Given the description of an element on the screen output the (x, y) to click on. 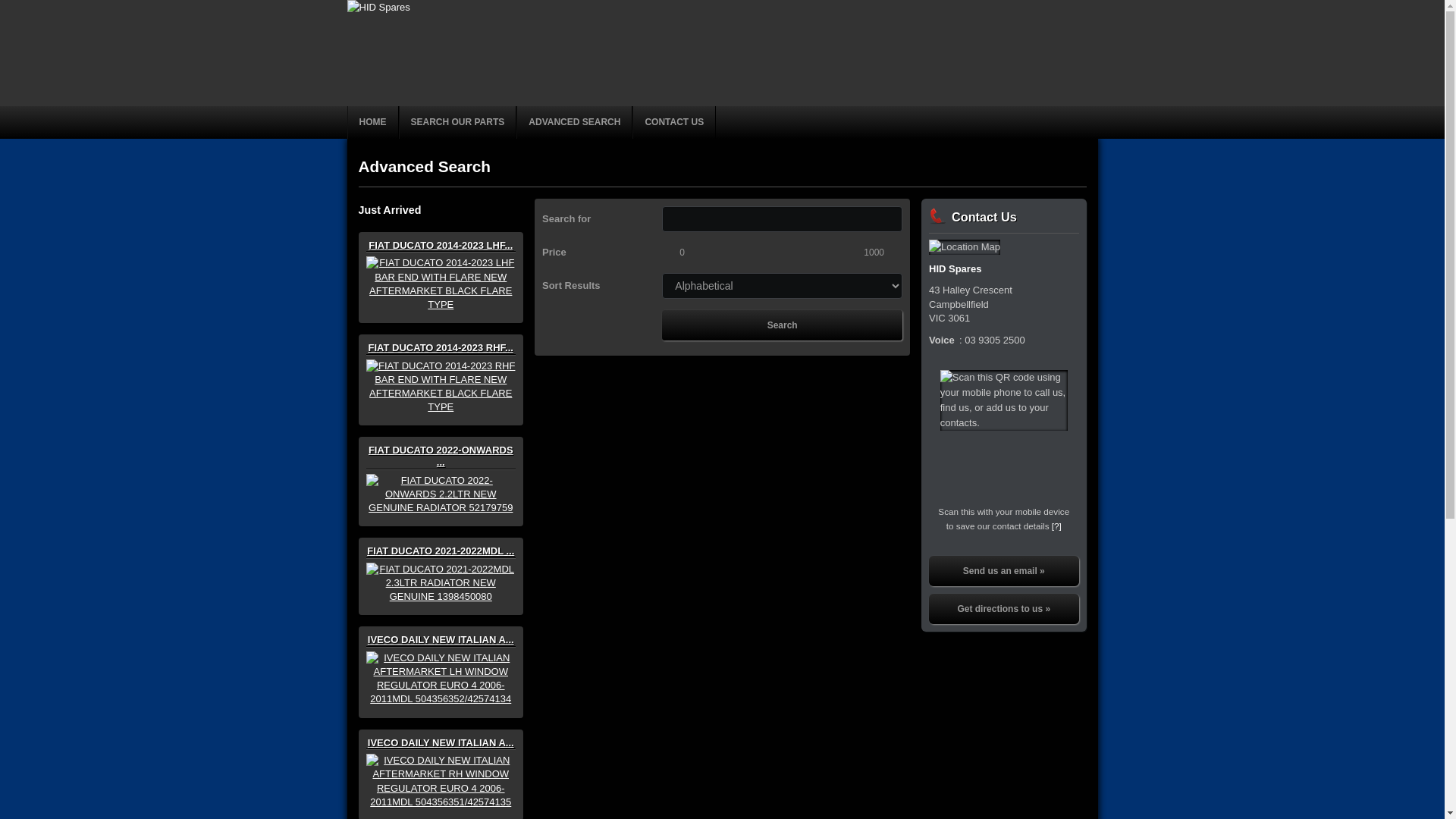
[?] Element type: text (1056, 525)
FIAT DUCATO 2014-2023 LHF... Element type: text (440, 265)
IVECO DAILY NEW ITALIAN A... Element type: text (440, 762)
SEARCH OUR PARTS Element type: text (457, 122)
ADVANCED SEARCH Element type: text (574, 122)
Search Element type: text (782, 325)
FIAT DUCATO 2021-2022MDL ... Element type: text (440, 567)
IVECO DAILY NEW ITALIAN A... Element type: text (440, 659)
FIAT DUCATO 2014-2023 RHF... Element type: text (440, 367)
CONTACT US Element type: text (673, 122)
HOME Element type: text (372, 122)
FIAT DUCATO 2022-ONWARDS ... Element type: text (440, 472)
